Given the description of an element on the screen output the (x, y) to click on. 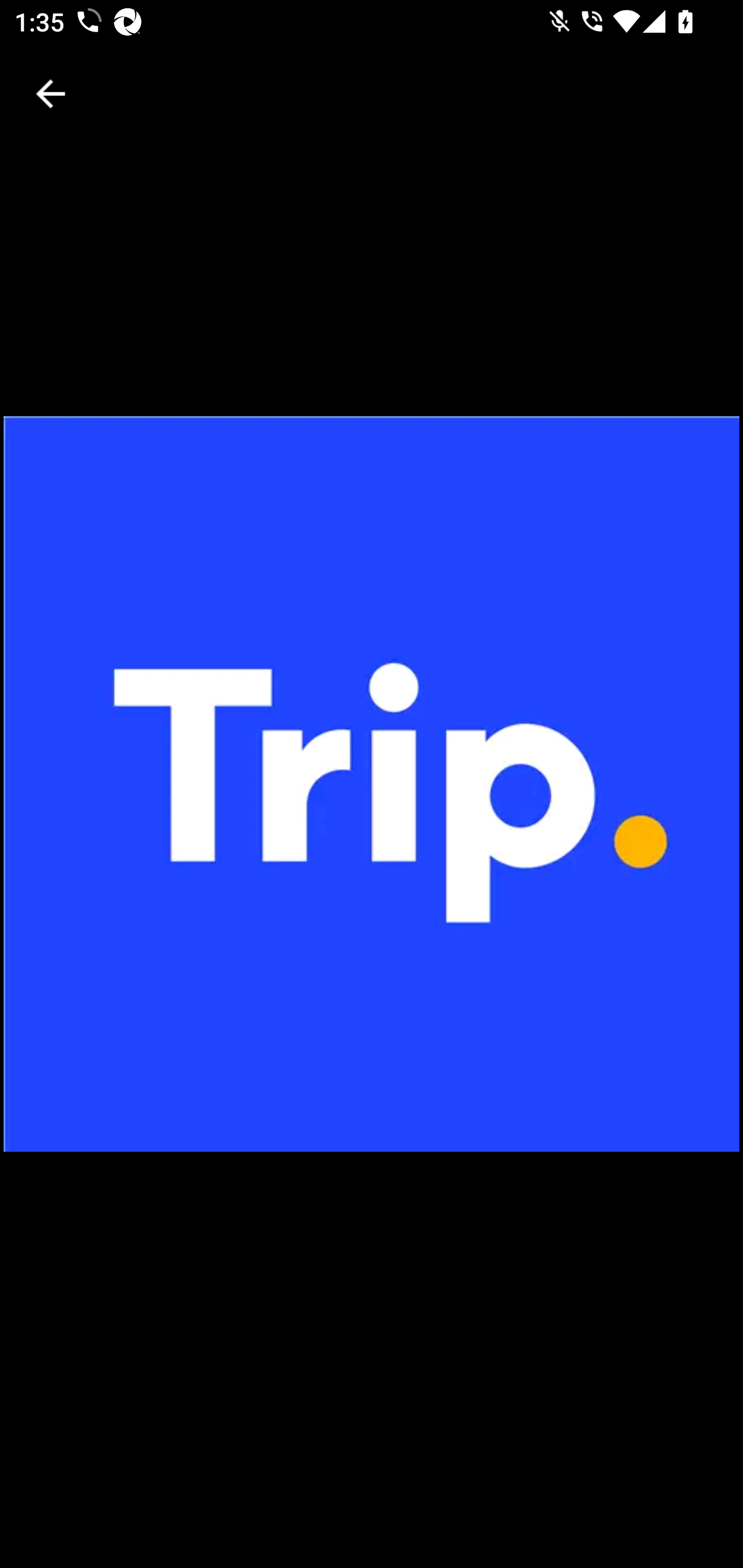
Back (50, 93)
